Given the description of an element on the screen output the (x, y) to click on. 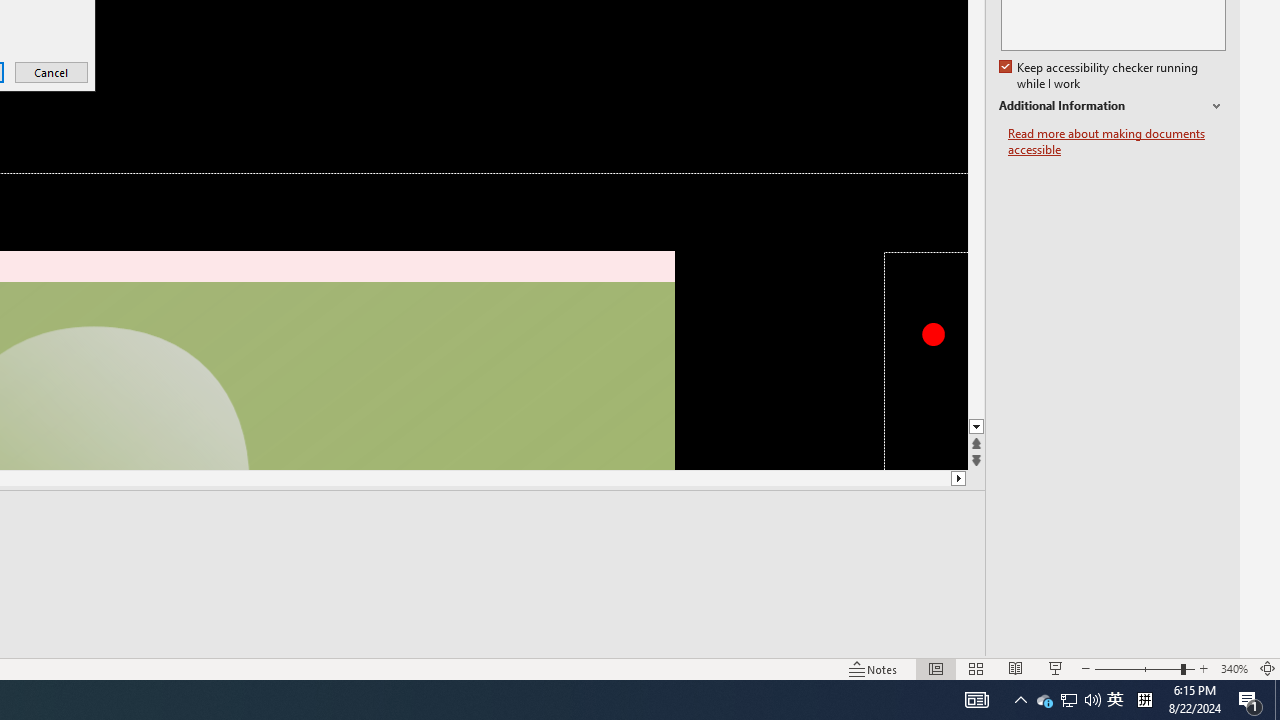
Cancel (51, 72)
Q2790: 100% (1092, 699)
User Promoted Notification Area (1068, 699)
Action Center, 1 new notification (1250, 699)
Keep accessibility checker running while I work (1099, 76)
Tray Input Indicator - Chinese (Simplified, China) (1144, 699)
Show desktop (1277, 699)
